Given the description of an element on the screen output the (x, y) to click on. 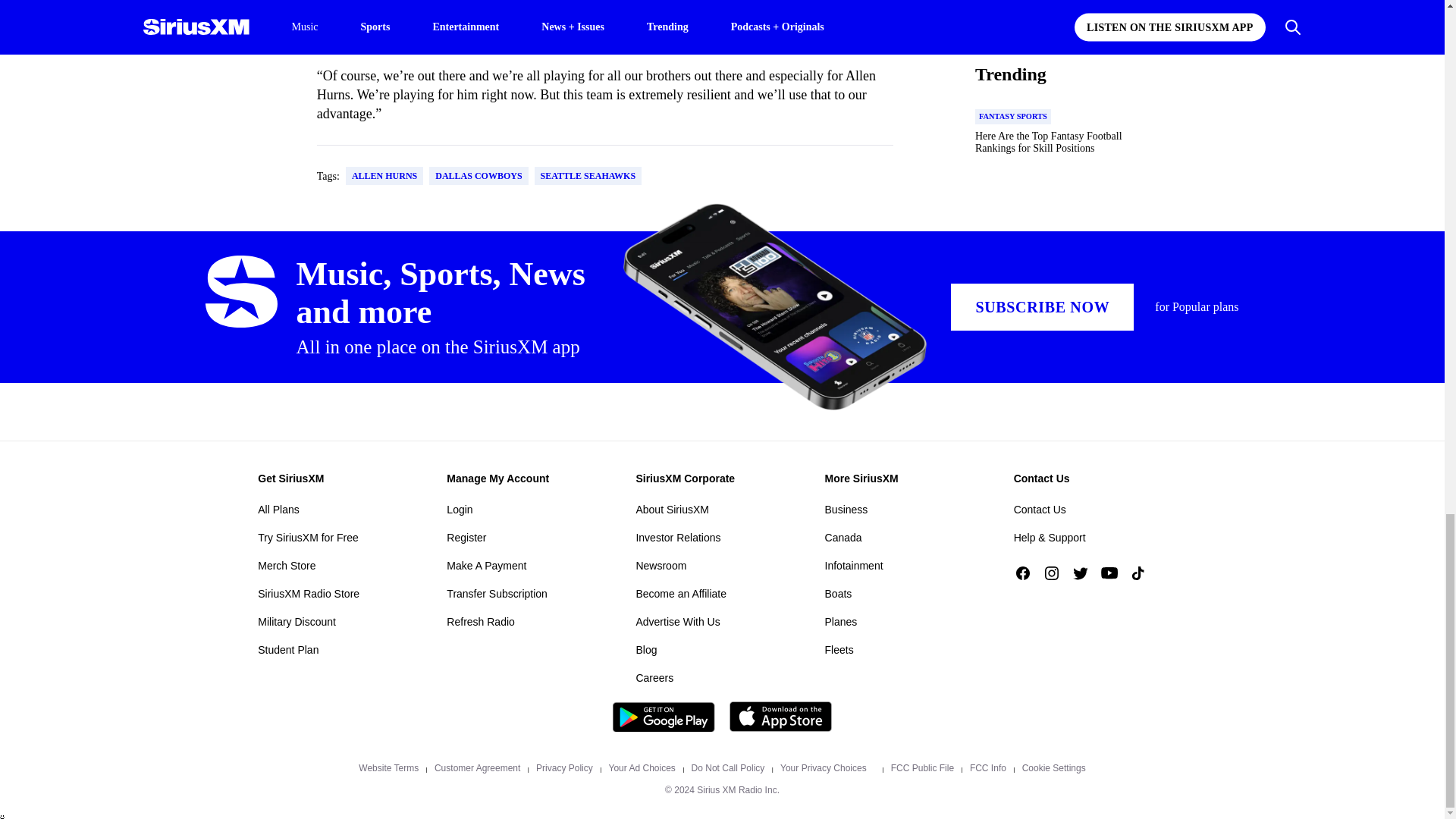
ALLEN HURNS (384, 176)
SUBSCRIBE NOW (1042, 306)
SEATTLE SEAHAWKS (588, 176)
All Plans (277, 509)
DALLAS COWBOYS (478, 176)
